Given the description of an element on the screen output the (x, y) to click on. 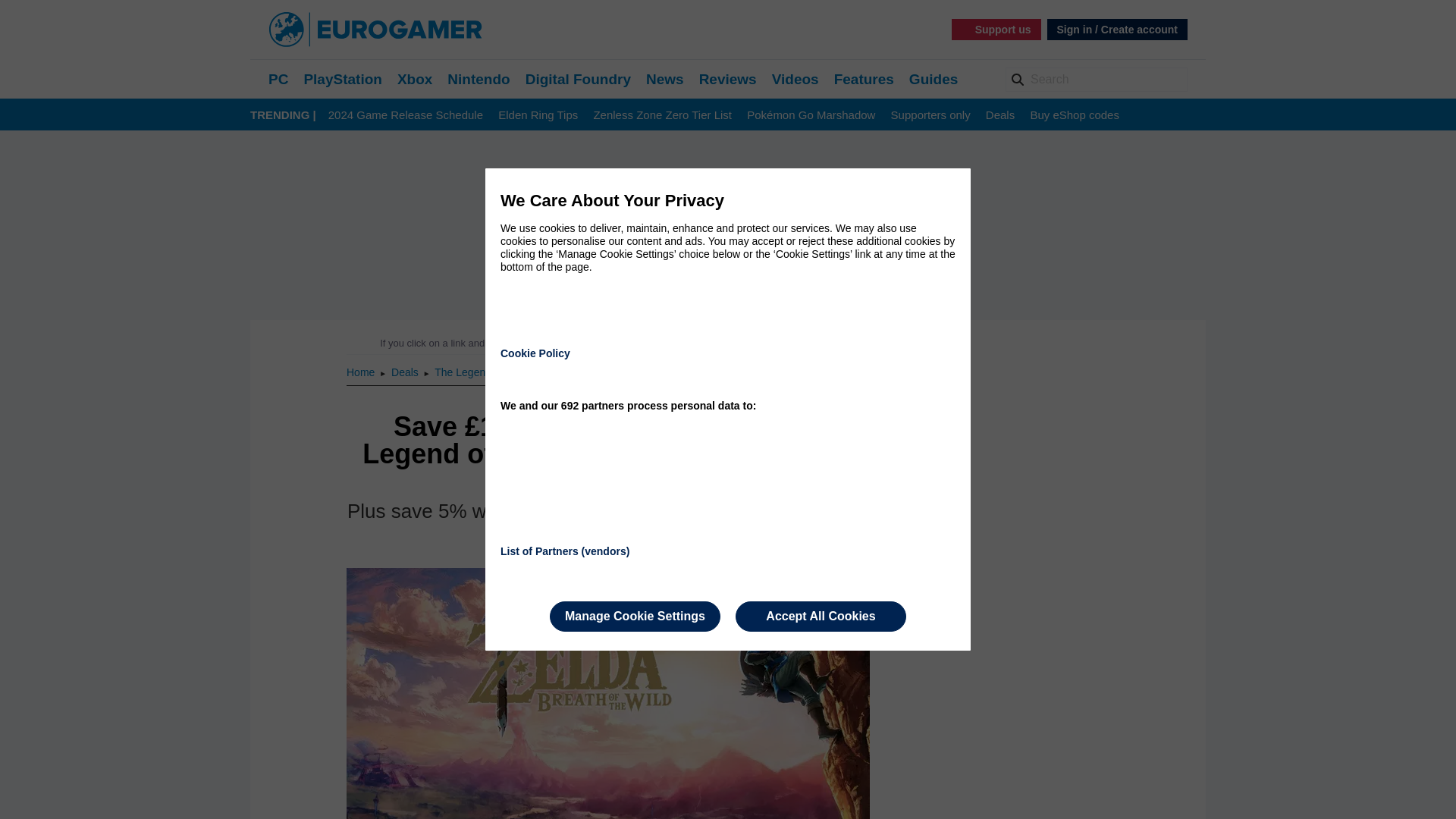
Supporters only (931, 114)
Home (361, 372)
Zenless Zone Zero Tier List (662, 114)
Read our editorial policy (781, 342)
Deals (406, 372)
Zenless Zone Zero Tier List (662, 114)
Xbox (414, 78)
Videos (794, 78)
Digital Foundry (577, 78)
Digital Foundry (577, 78)
Guides (933, 78)
Buy eShop codes (1074, 114)
Deals (999, 114)
Buy eShop codes (1074, 114)
Support us (996, 29)
